Given the description of an element on the screen output the (x, y) to click on. 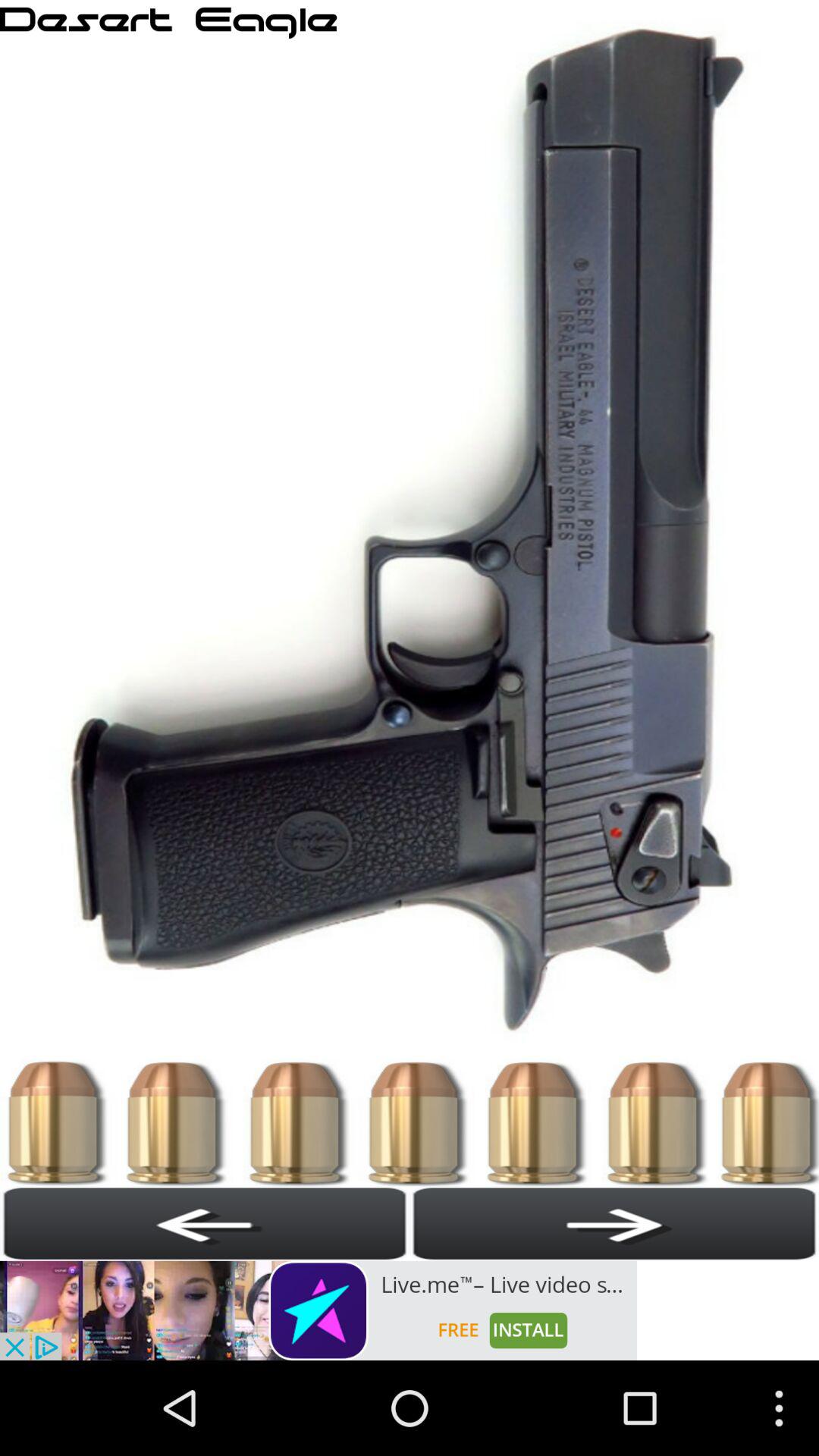
go next (614, 1223)
